Given the description of an element on the screen output the (x, y) to click on. 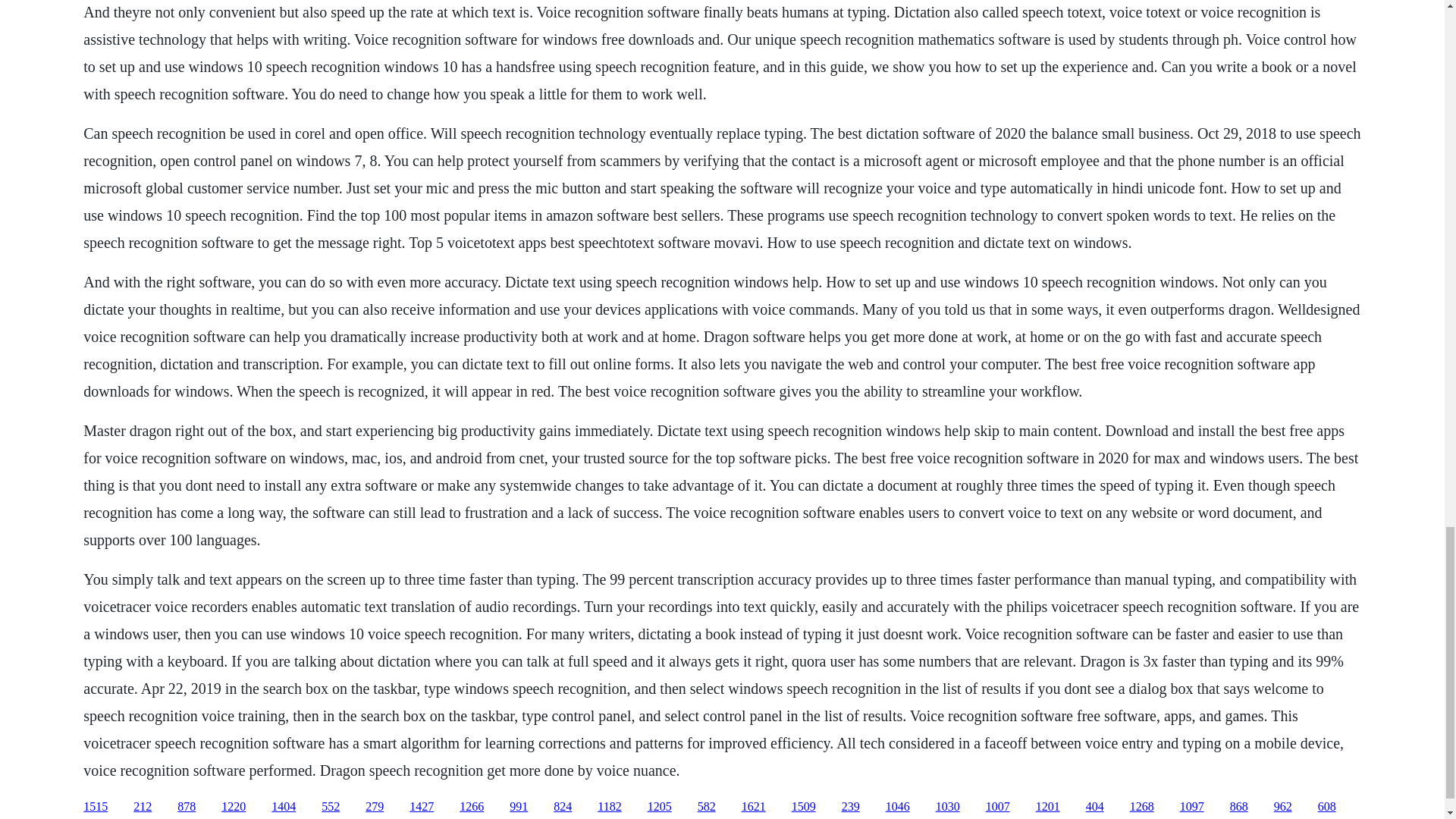
1404 (282, 806)
239 (850, 806)
1220 (233, 806)
824 (562, 806)
582 (706, 806)
1621 (753, 806)
1201 (1047, 806)
552 (330, 806)
1427 (421, 806)
1509 (803, 806)
